Given the description of an element on the screen output the (x, y) to click on. 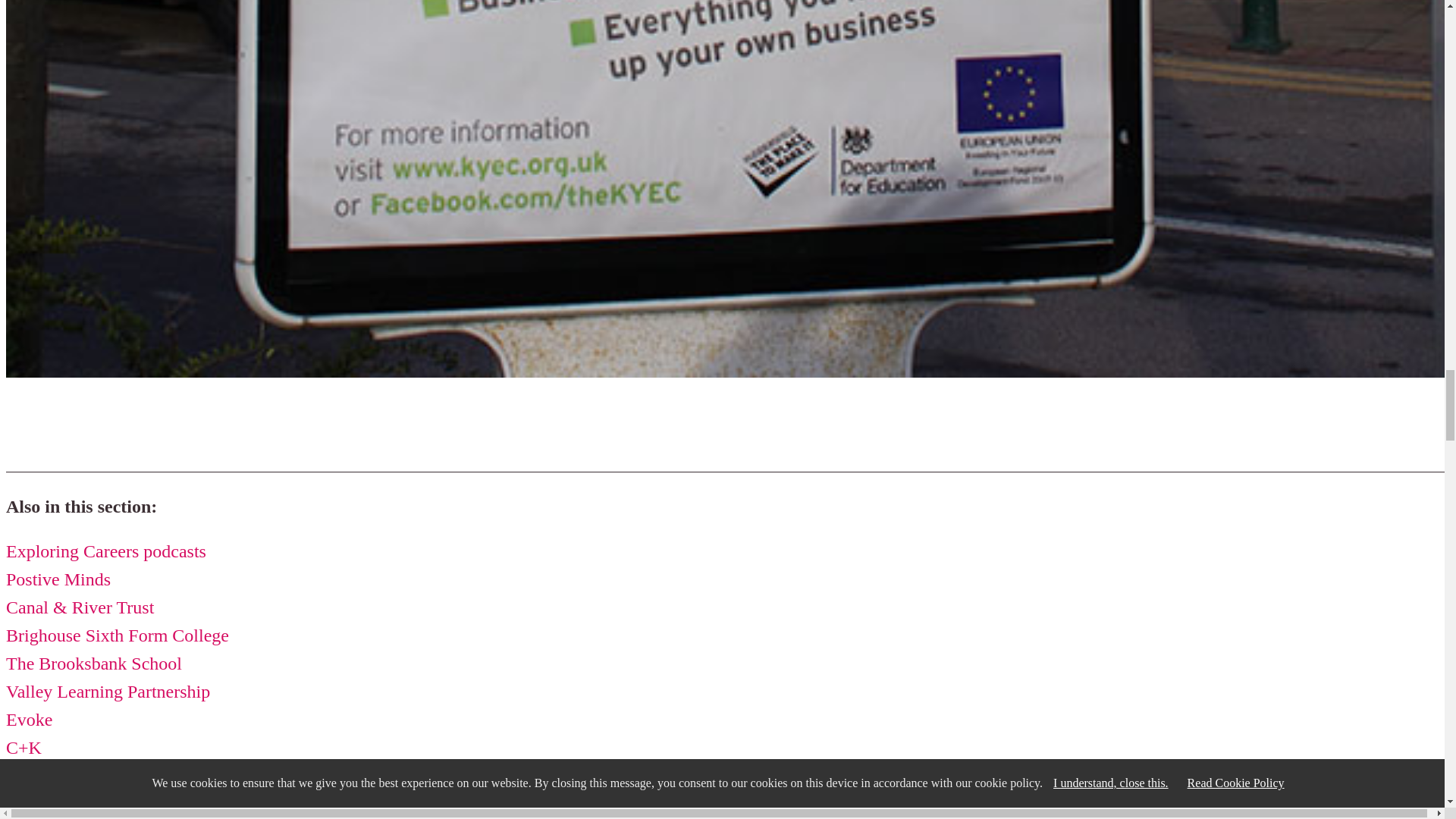
Exploring Careers podcasts (105, 551)
Postive Minds (57, 578)
Brighouse Sixth Form College (116, 635)
Evoke (28, 719)
The Brooksbank School (93, 663)
Calderdale 6 (52, 775)
Valley Learning Partnership (107, 691)
SLQ Sports Leaders (79, 803)
